Given the description of an element on the screen output the (x, y) to click on. 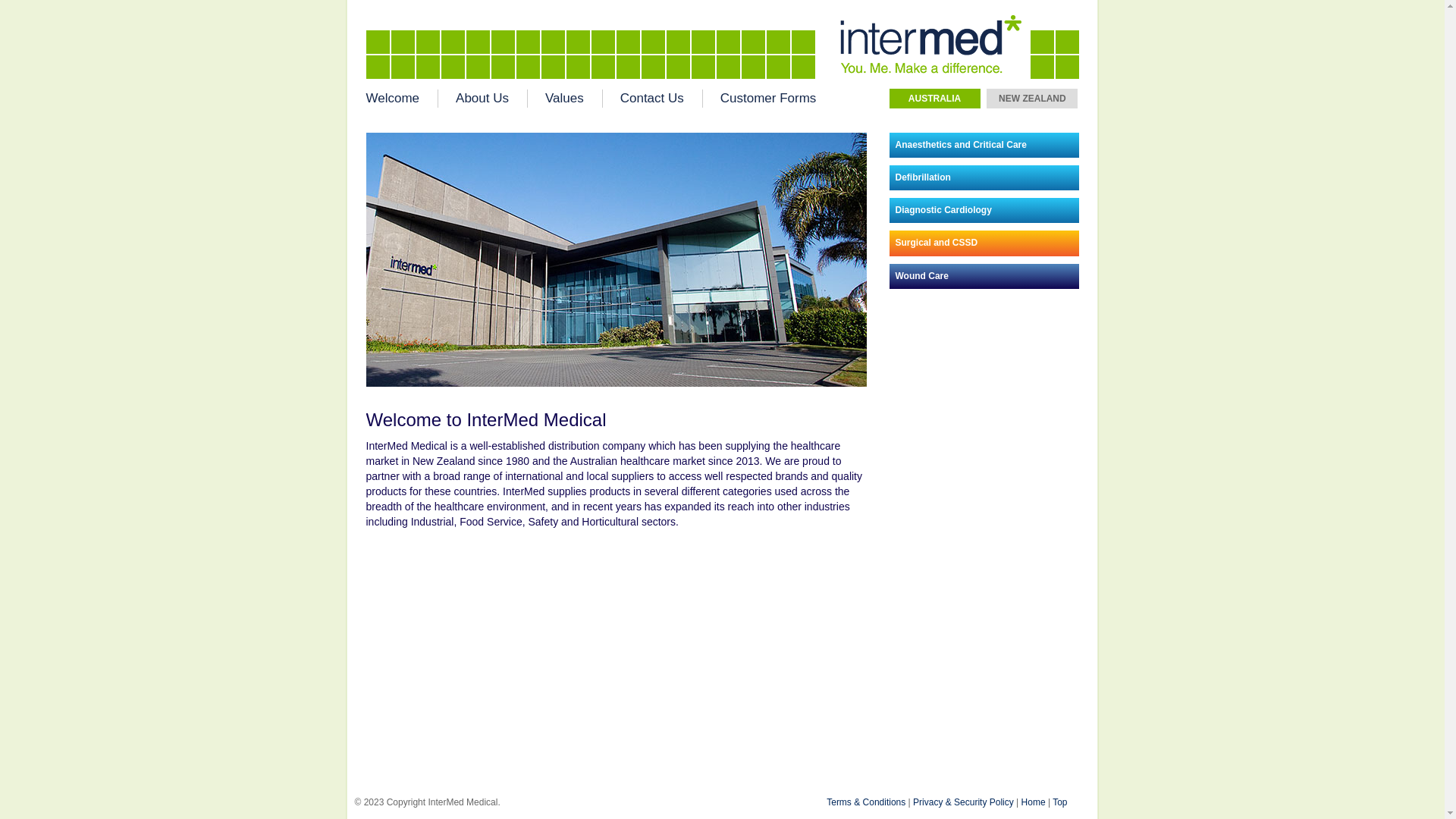
Home Element type: text (1033, 802)
Anaesthetics and Critical Care Element type: text (983, 144)
NEW ZEALAND Element type: text (1031, 98)
Diagnostic Cardiology Element type: text (983, 209)
Privacy & Security Policy Element type: text (963, 802)
Surgical and CSSD Element type: text (983, 242)
Customer Forms Element type: text (759, 98)
Wound Care Element type: text (983, 275)
Terms & Conditions Element type: text (865, 802)
Welcome Element type: text (401, 98)
Defibrillation Element type: text (983, 177)
Top Element type: text (1059, 802)
About Us Element type: text (482, 98)
Contact Us Element type: text (652, 98)
Values Element type: text (564, 98)
